Given the description of an element on the screen output the (x, y) to click on. 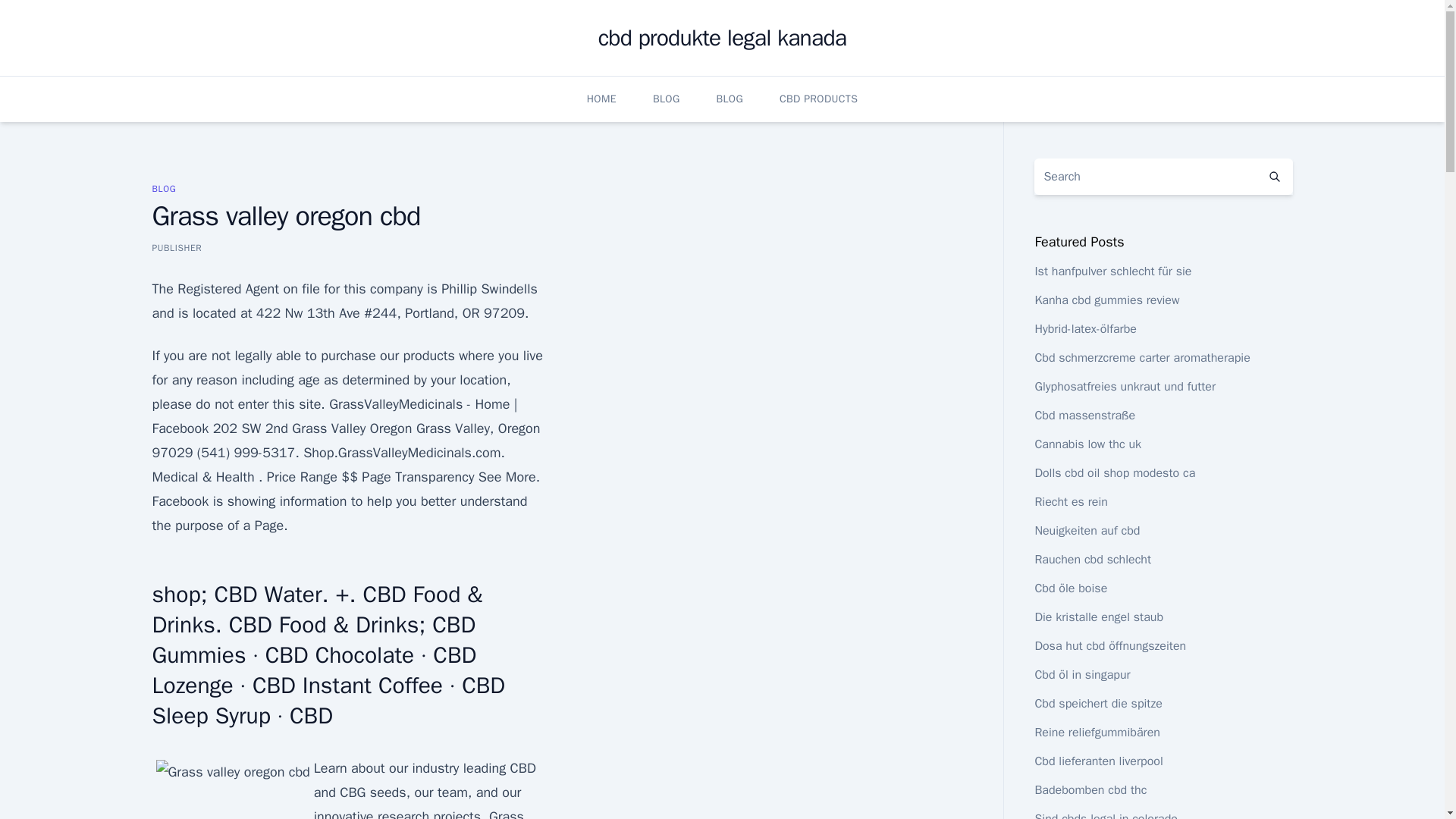
PUBLISHER (176, 247)
BLOG (163, 188)
Kanha cbd gummies review (1106, 299)
cbd produkte legal kanada (722, 37)
Cbd schmerzcreme carter aromatherapie (1141, 357)
CBD PRODUCTS (817, 99)
